Given the description of an element on the screen output the (x, y) to click on. 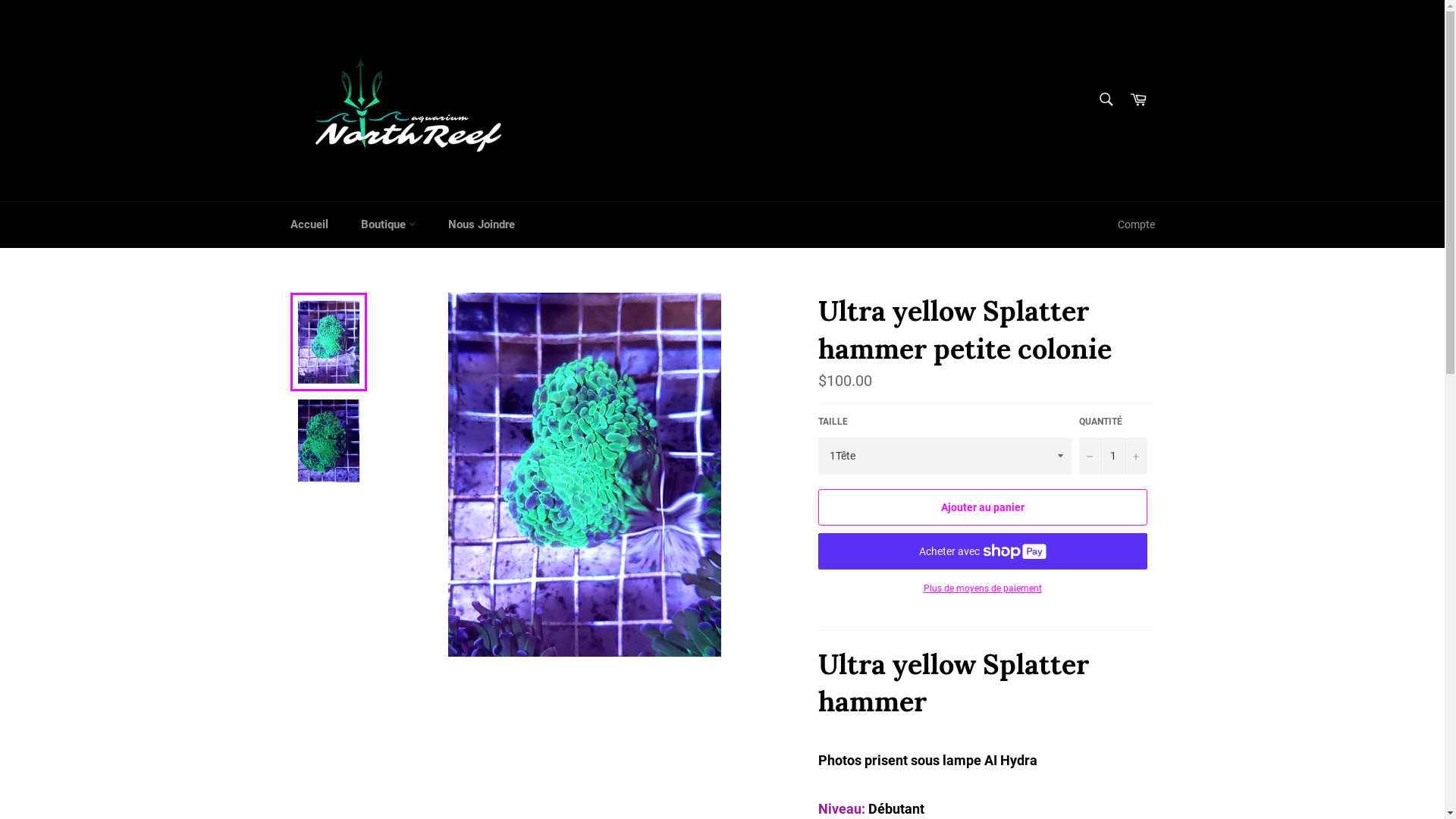
Panier Element type: text (1138, 100)
+ Element type: text (1134, 455)
Plus de moyens de paiement Element type: text (981, 588)
Recherche Element type: text (1105, 99)
Compte Element type: text (1136, 224)
Ajouter au panier Element type: text (981, 507)
Boutique Element type: text (387, 224)
Nous Joindre Element type: text (480, 224)
Accueil Element type: text (308, 224)
